Given the description of an element on the screen output the (x, y) to click on. 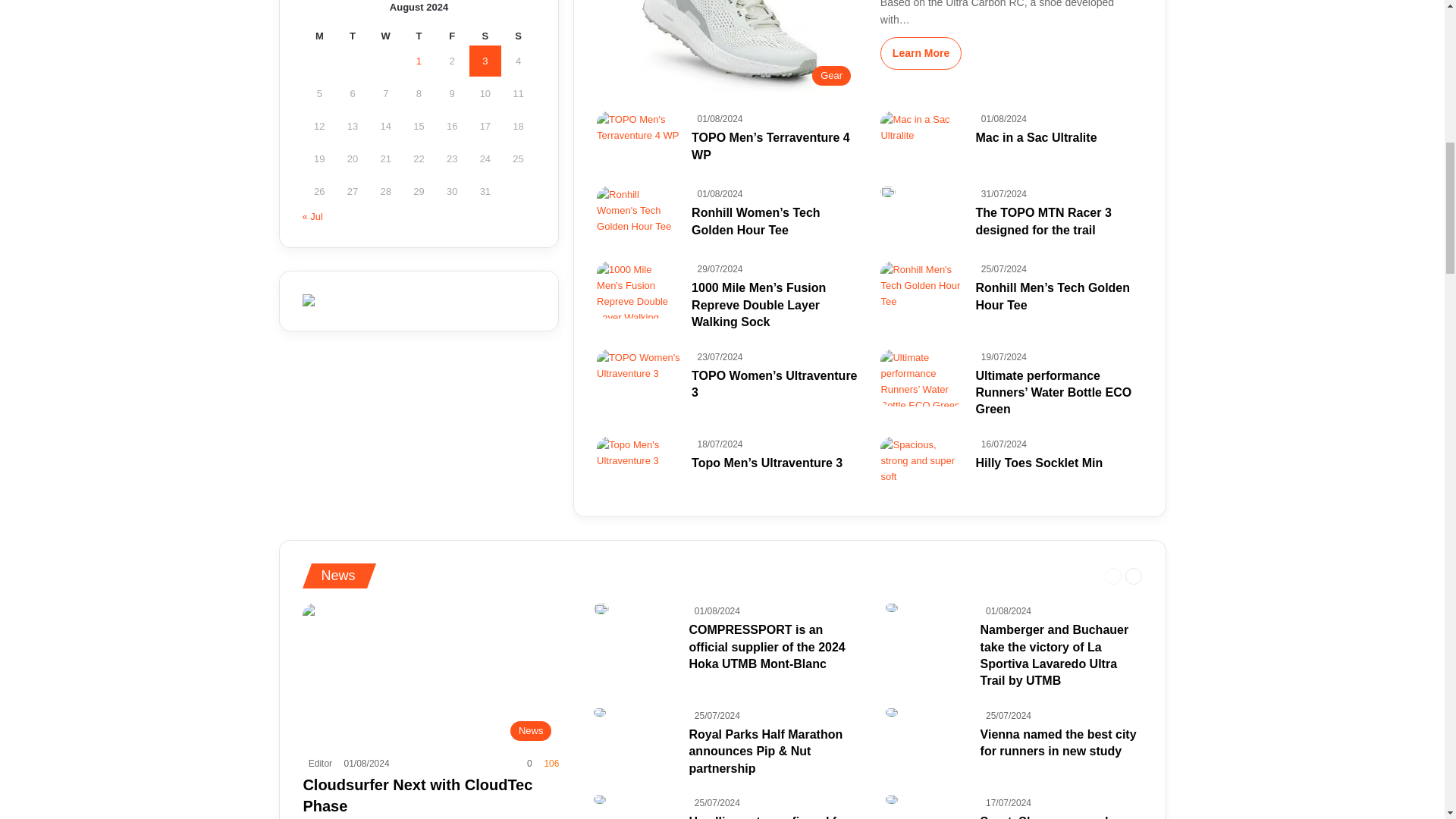
Tuesday (352, 35)
Monday (318, 35)
Friday (451, 35)
Saturday (484, 35)
Thursday (419, 35)
Editor (316, 763)
Sunday (518, 35)
Wednesday (385, 35)
